Given the description of an element on the screen output the (x, y) to click on. 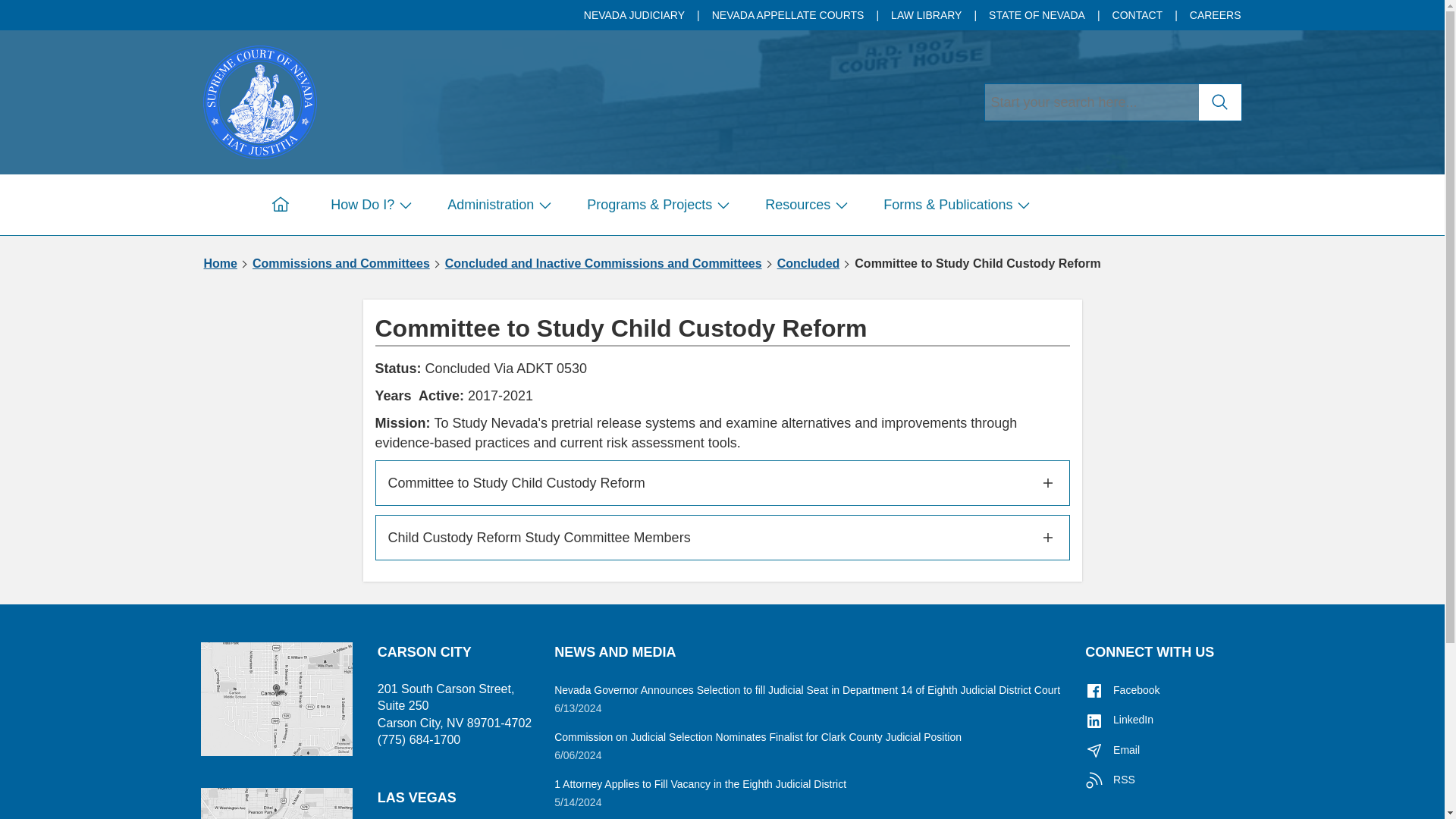
Facebook Icon (1093, 690)
CAREERS (1209, 15)
Administrative Office of the Courts  (260, 100)
Administration (496, 204)
NEVADA APPELLATE COURTS (789, 15)
How Do I? (368, 204)
CONTACT (1138, 15)
Email Icon (1093, 751)
NEVADA JUDICIARY (636, 15)
